Given the description of an element on the screen output the (x, y) to click on. 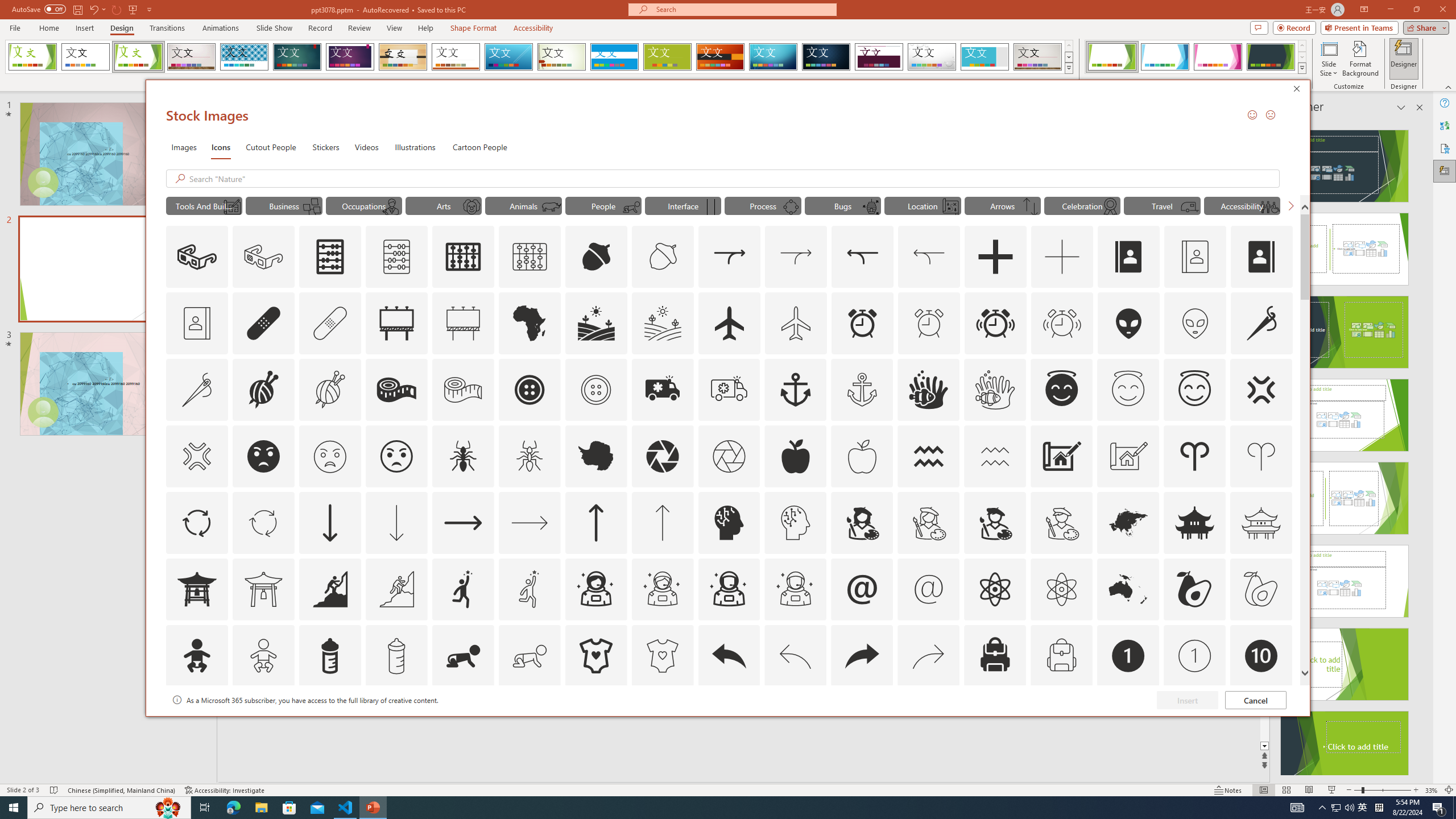
AutomationID: Icons_Architecture_M (1128, 455)
AutomationID: Icons_AnemoneAndClownfish (928, 389)
AutomationID: Icons_Badge3 (395, 721)
AutomationID: Icons_AsianTemple_M (1260, 522)
AutomationID: Icons_Badge7_M (995, 721)
AutomationID: Icons_Badge5 (662, 721)
AutomationID: Icons_AlterationsTailoring2 (395, 389)
